Given the description of an element on the screen output the (x, y) to click on. 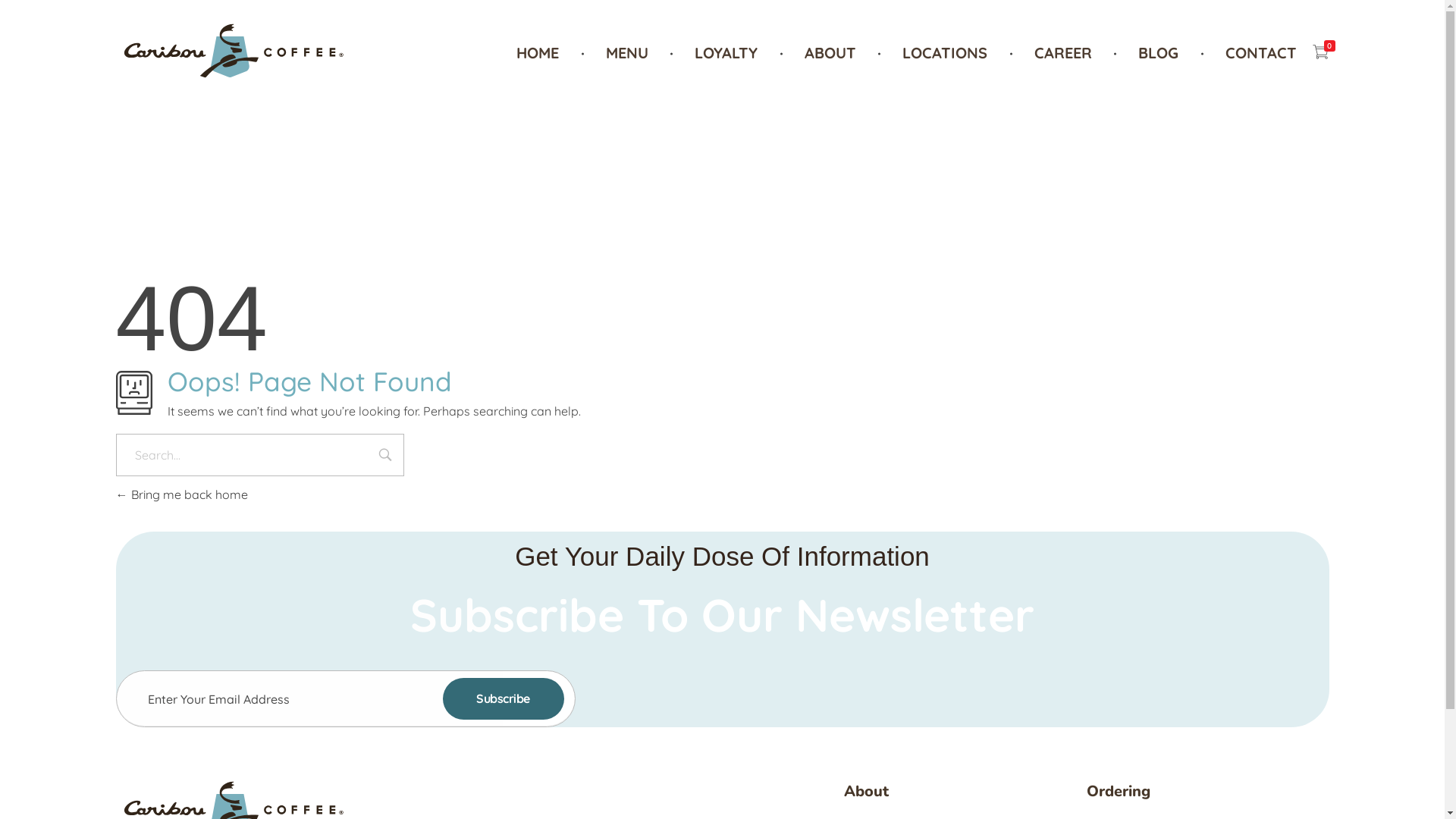
0 Element type: text (1320, 52)
ABOUT Element type: text (833, 52)
BLOG Element type: text (1161, 52)
CONTACT Element type: text (1249, 52)
CAREER Element type: text (1065, 52)
LOCATIONS Element type: text (948, 52)
Caribou Caffee - Sarajevo Element type: text (230, 88)
HOME Element type: text (550, 52)
Search Element type: text (385, 456)
Get Your Daily Dose Of Information Element type: text (721, 556)
LOYALTY Element type: text (729, 52)
Subscribe Element type: text (503, 698)
Bring me back home Element type: text (181, 494)
MENU Element type: text (629, 52)
